Given the description of an element on the screen output the (x, y) to click on. 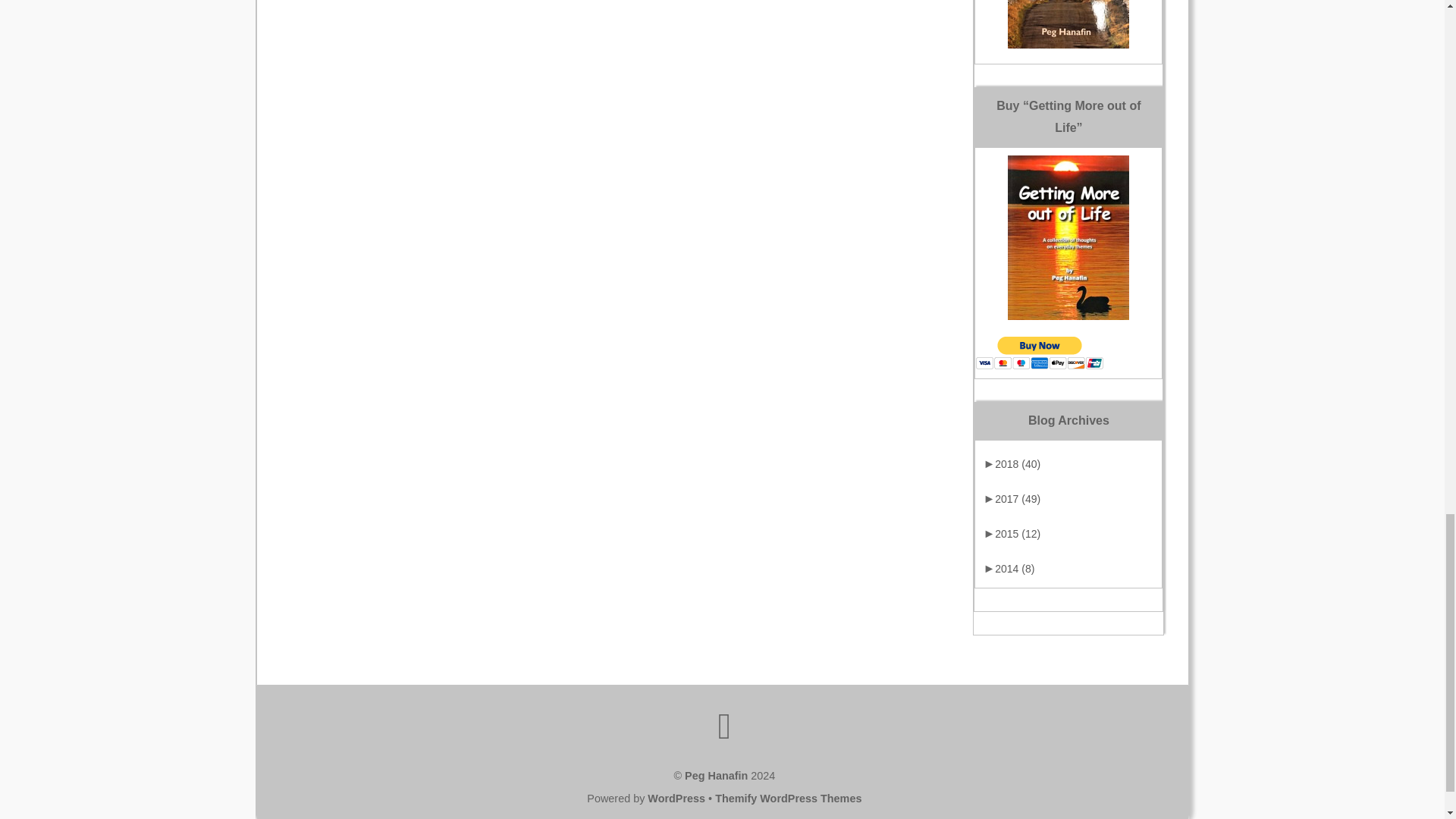
click to expand (1011, 463)
click to expand (1011, 498)
click to expand (1011, 533)
Themify WordPress Themes (787, 798)
Peg Hanafin (716, 775)
WordPress (675, 798)
